Given the description of an element on the screen output the (x, y) to click on. 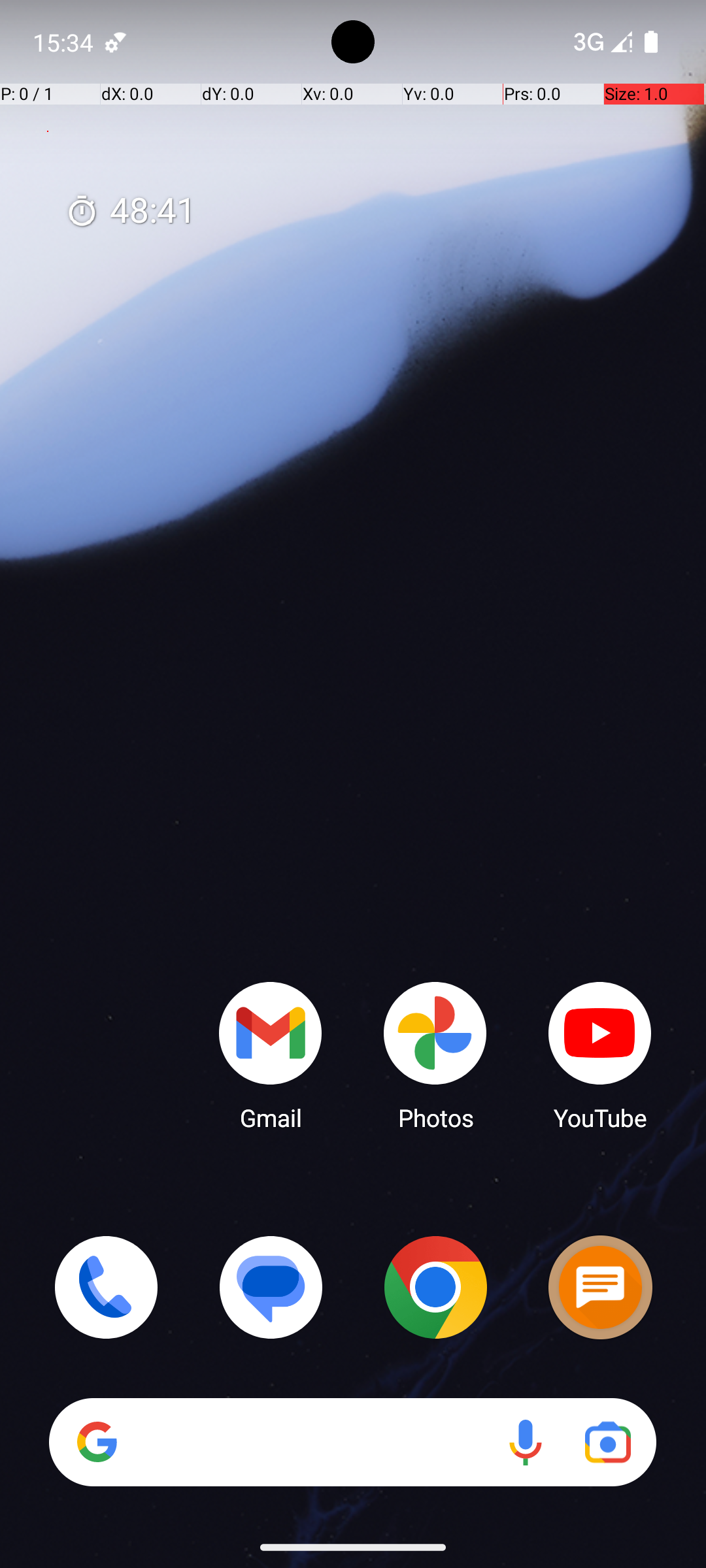
48:41 Element type: android.widget.TextView (130, 210)
